Given the description of an element on the screen output the (x, y) to click on. 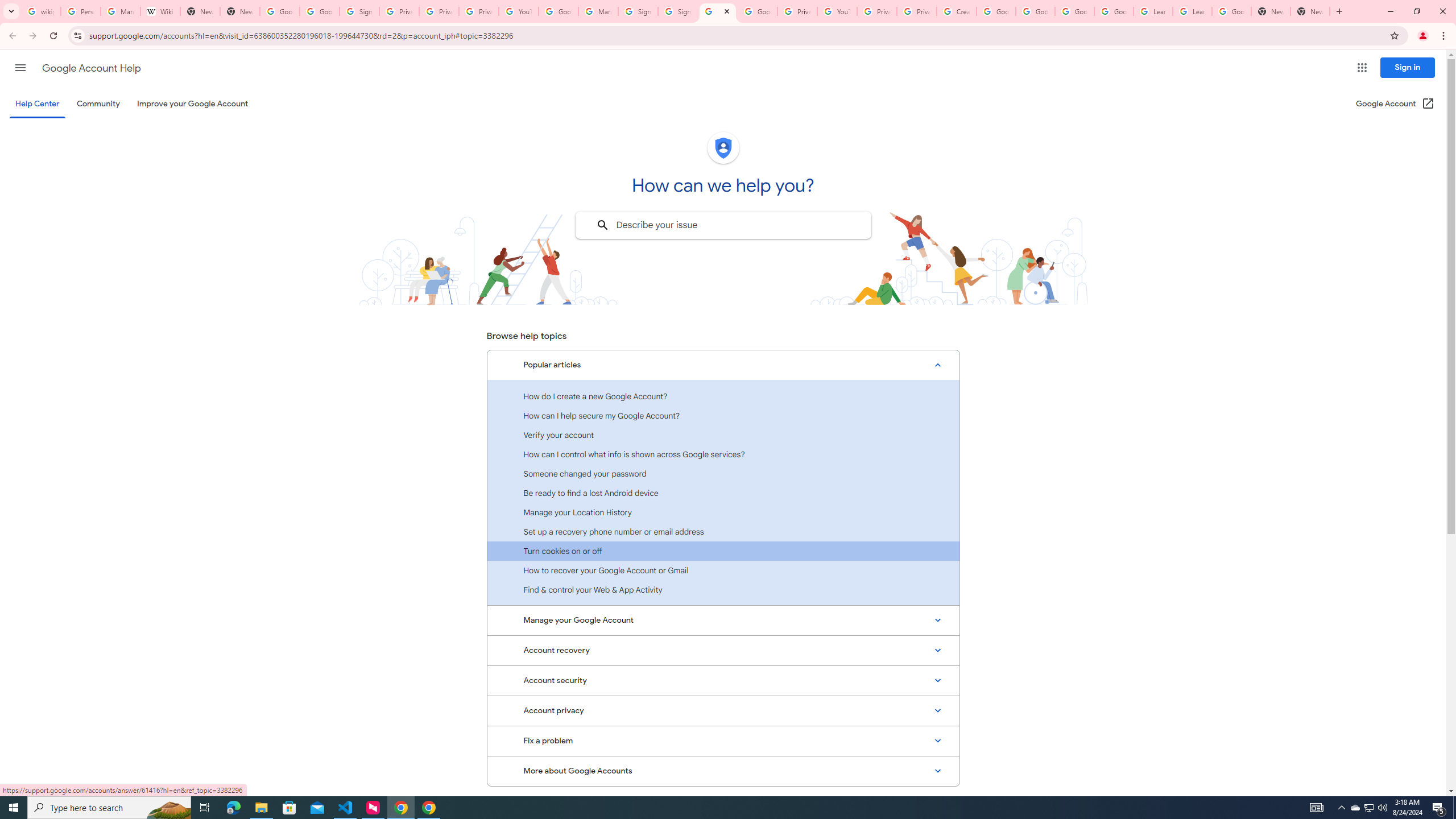
Verify your account (722, 434)
Popular articles, Expanded list with 11 items (722, 365)
Describe your issue to find information that might help you. (722, 225)
Account privacy (722, 710)
Sign in - Google Accounts (677, 11)
Google Account Help (1074, 11)
Google Drive: Sign-in (319, 11)
Fix a problem (722, 740)
